Given the description of an element on the screen output the (x, y) to click on. 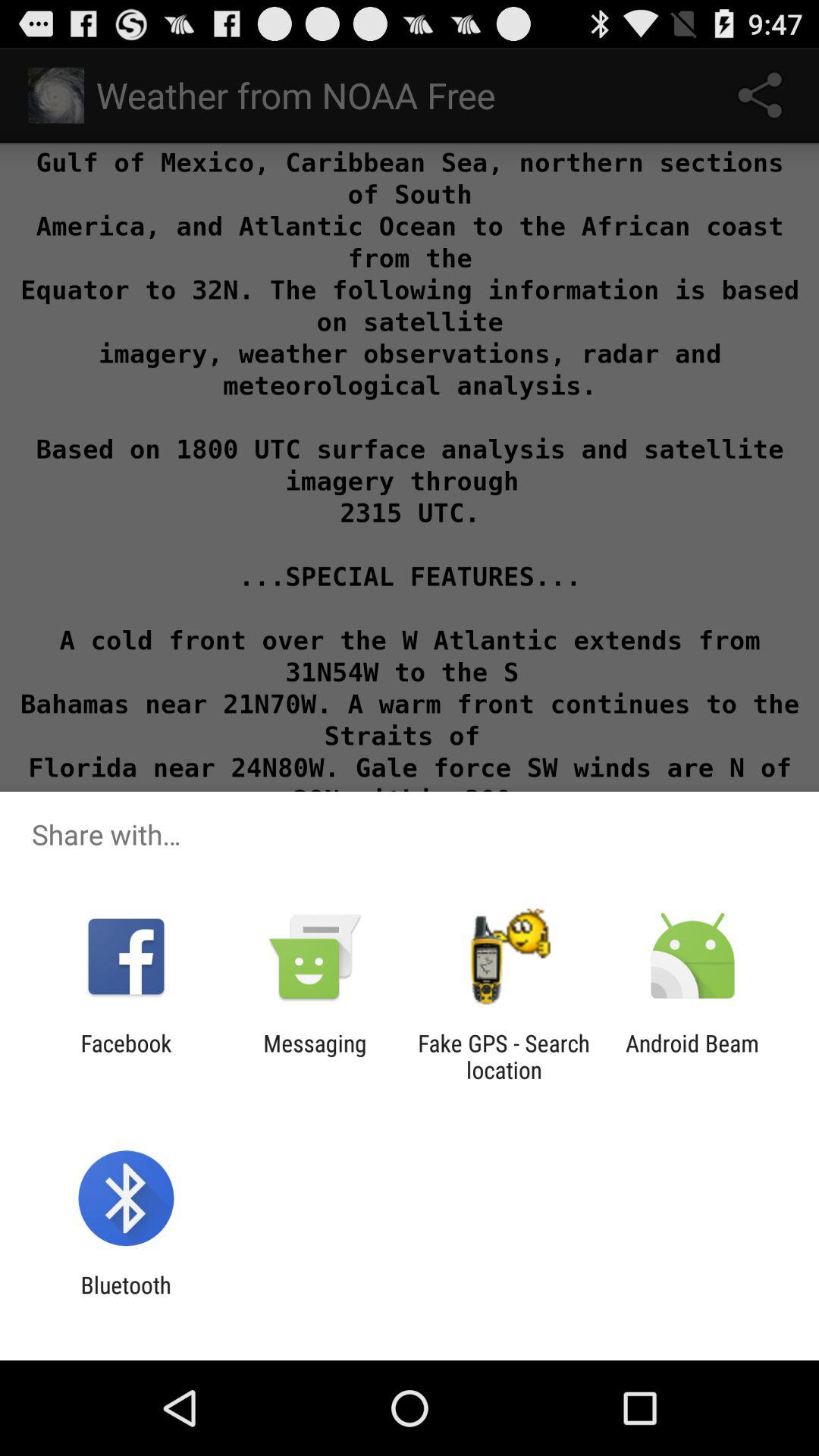
press icon next to fake gps search icon (692, 1056)
